Given the description of an element on the screen output the (x, y) to click on. 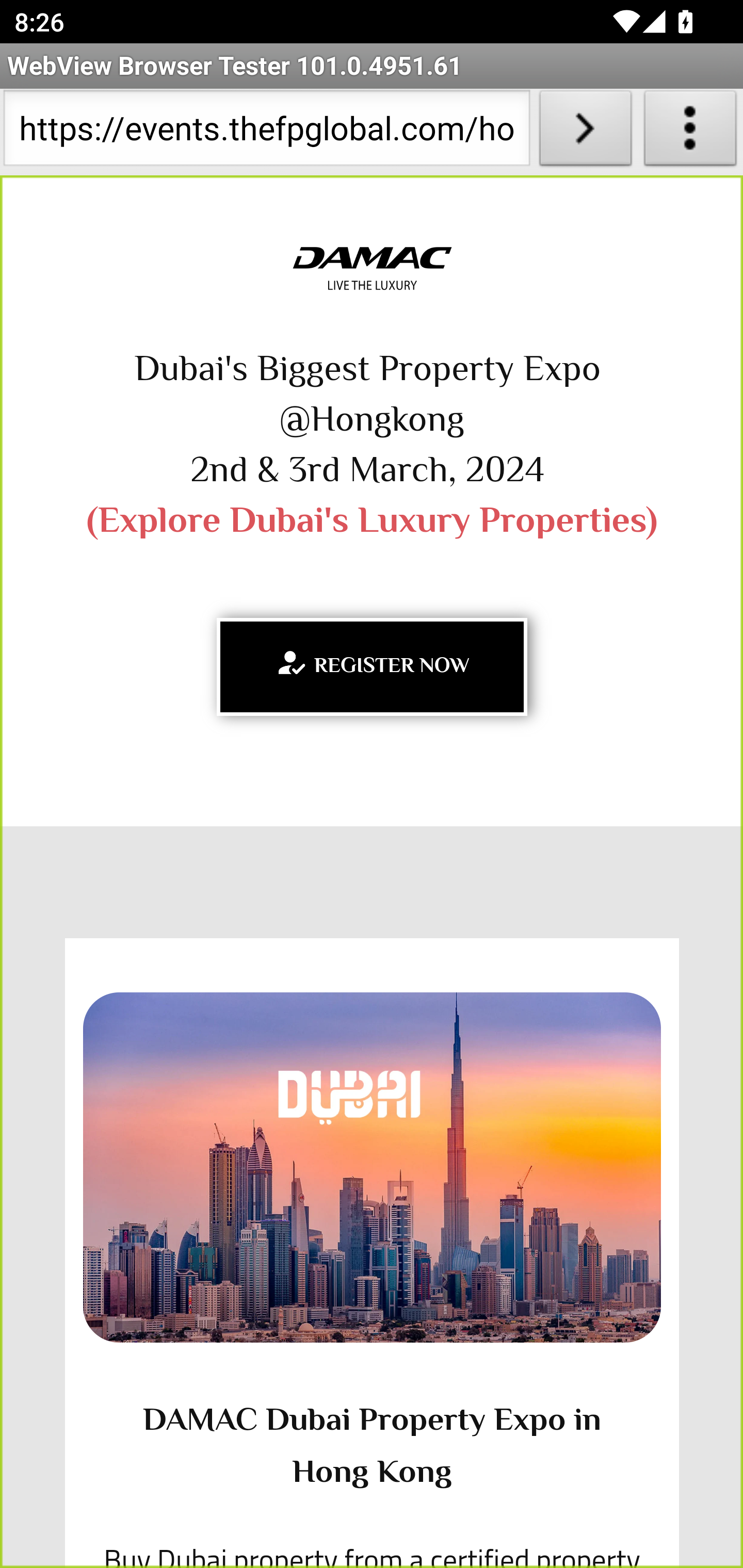
Load URL (585, 132)
About WebView (690, 132)
fp global DamacLogo1 (371, 268)
 REGISTER NOW (371, 666)
